Given the description of an element on the screen output the (x, y) to click on. 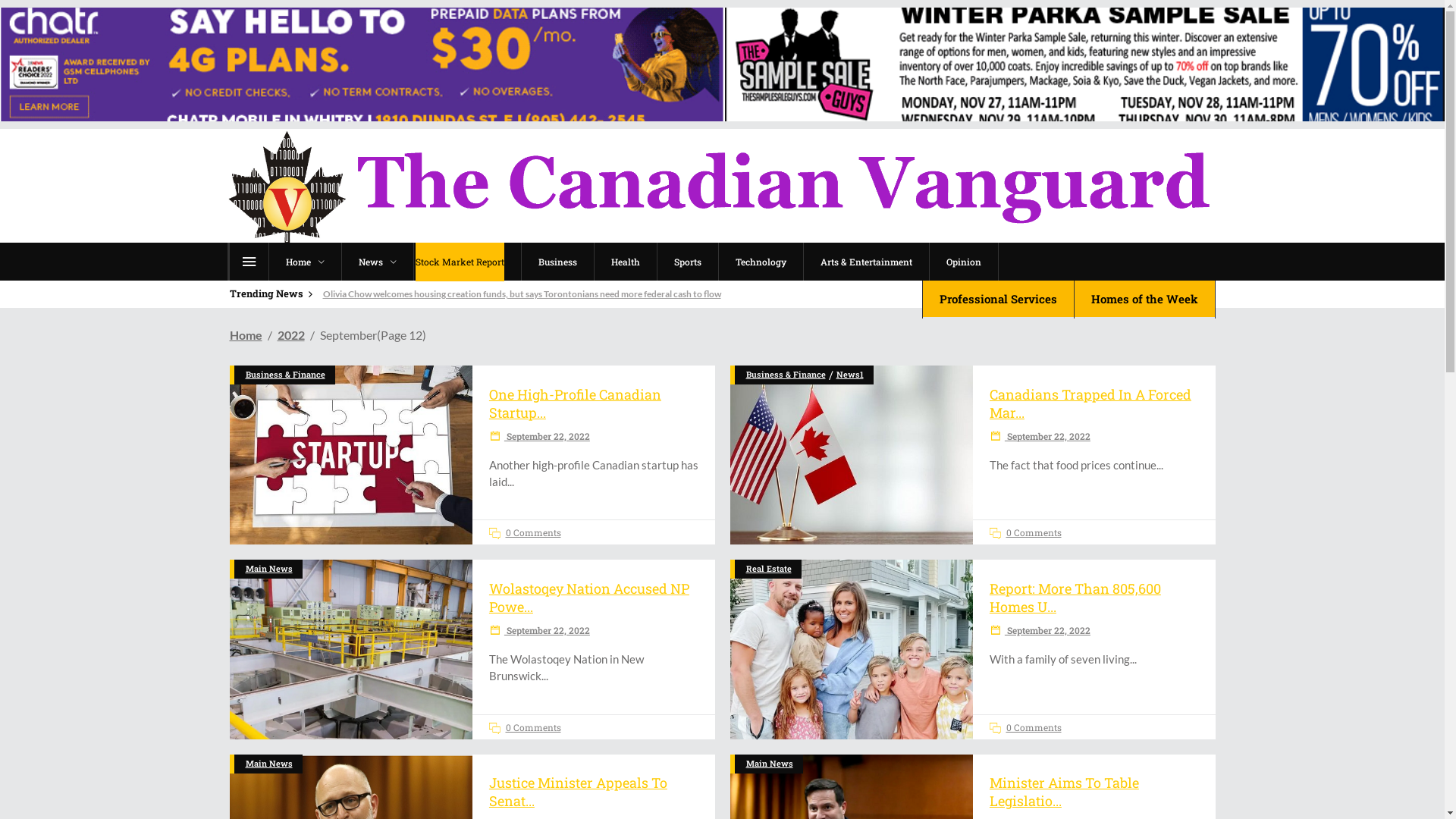
Main News Element type: text (268, 568)
September 22, 2022 Element type: text (1039, 630)
Stock Market Report Element type: text (466, 261)
0 Comments Element type: text (1024, 532)
0 Comments Element type: text (524, 532)
Professional Services Element type: text (997, 298)
Home Element type: text (304, 261)
Business & Finance Element type: text (285, 374)
Main News Element type: text (769, 763)
Main News Element type: text (268, 763)
Home Element type: text (245, 335)
September 22, 2022 Element type: text (539, 435)
Business & Finance Element type: text (785, 374)
Business Element type: text (556, 261)
2022 Element type: text (290, 335)
Health Element type: text (624, 261)
September 22, 2022 Element type: text (539, 630)
Sports Element type: text (687, 261)
Wolastoqey Nation Accused NP Powe... Element type: text (589, 597)
Justice Minister Appeals To Senat... Element type: text (578, 791)
News1 Element type: text (848, 374)
Technology Element type: text (759, 261)
Canadians Trapped In A Forced Mar... Element type: text (1090, 403)
Report: More Than 805,600 Homes U... Element type: text (1075, 597)
0 Comments Element type: text (1024, 727)
0 Comments Element type: text (524, 727)
Arts & Entertainment Element type: text (865, 261)
News Element type: text (377, 261)
Opinion Element type: text (962, 261)
Minister Aims To Table Legislatio... Element type: text (1064, 791)
September 22, 2022 Element type: text (1039, 435)
Homes of the Week Element type: text (1144, 298)
One High-Profile Canadian Startup... Element type: text (575, 403)
Real Estate Element type: text (768, 568)
